Given the description of an element on the screen output the (x, y) to click on. 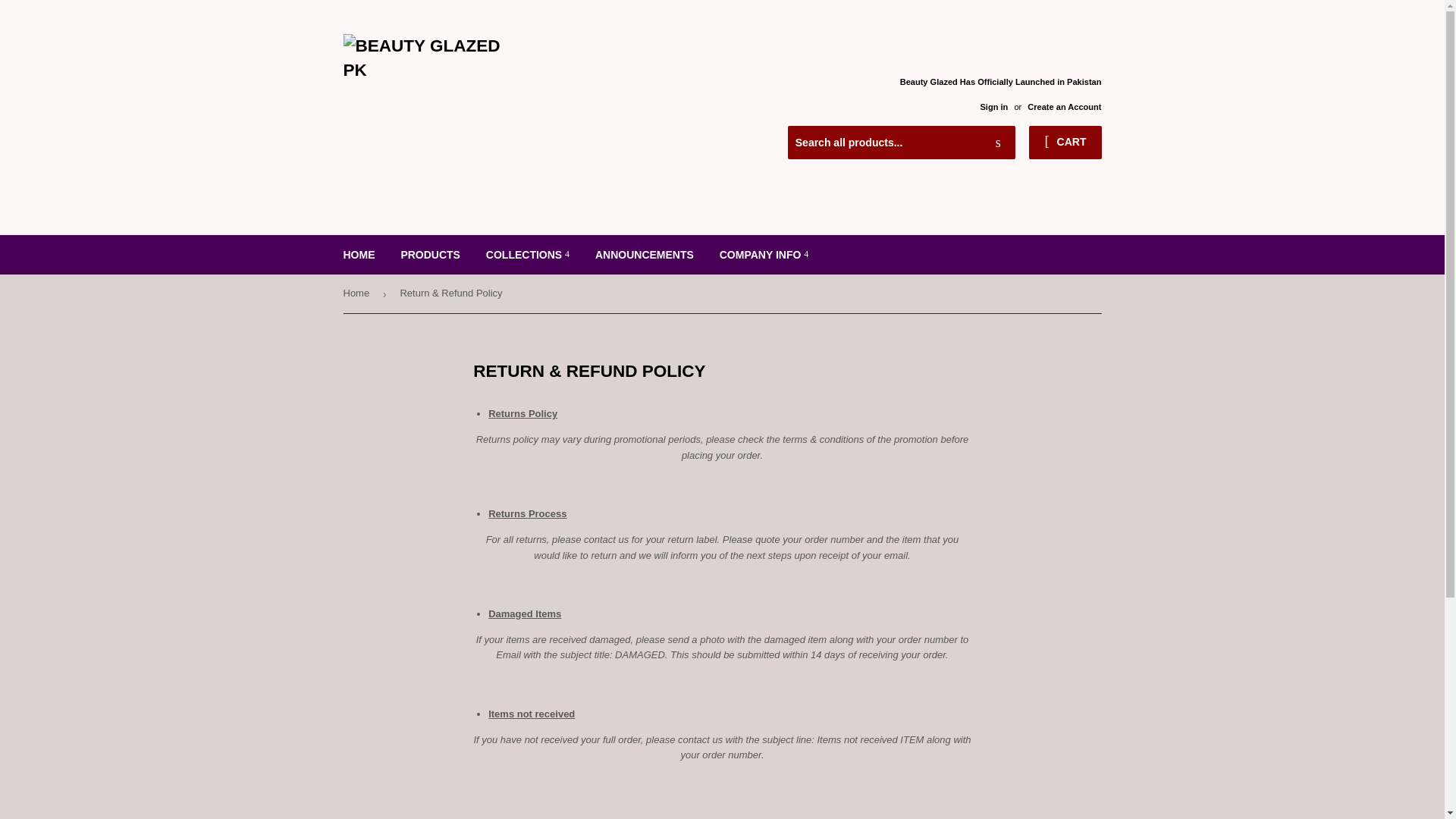
ANNOUNCEMENTS (643, 254)
COLLECTIONS (527, 254)
Search (997, 142)
PRODUCTS (429, 254)
HOME (359, 254)
COMPANY INFO (764, 254)
Sign in (993, 106)
Beauty Glazed Has Officially Launched in Pakistan (1000, 93)
Create an Account (1063, 106)
CART (1064, 142)
